Given the description of an element on the screen output the (x, y) to click on. 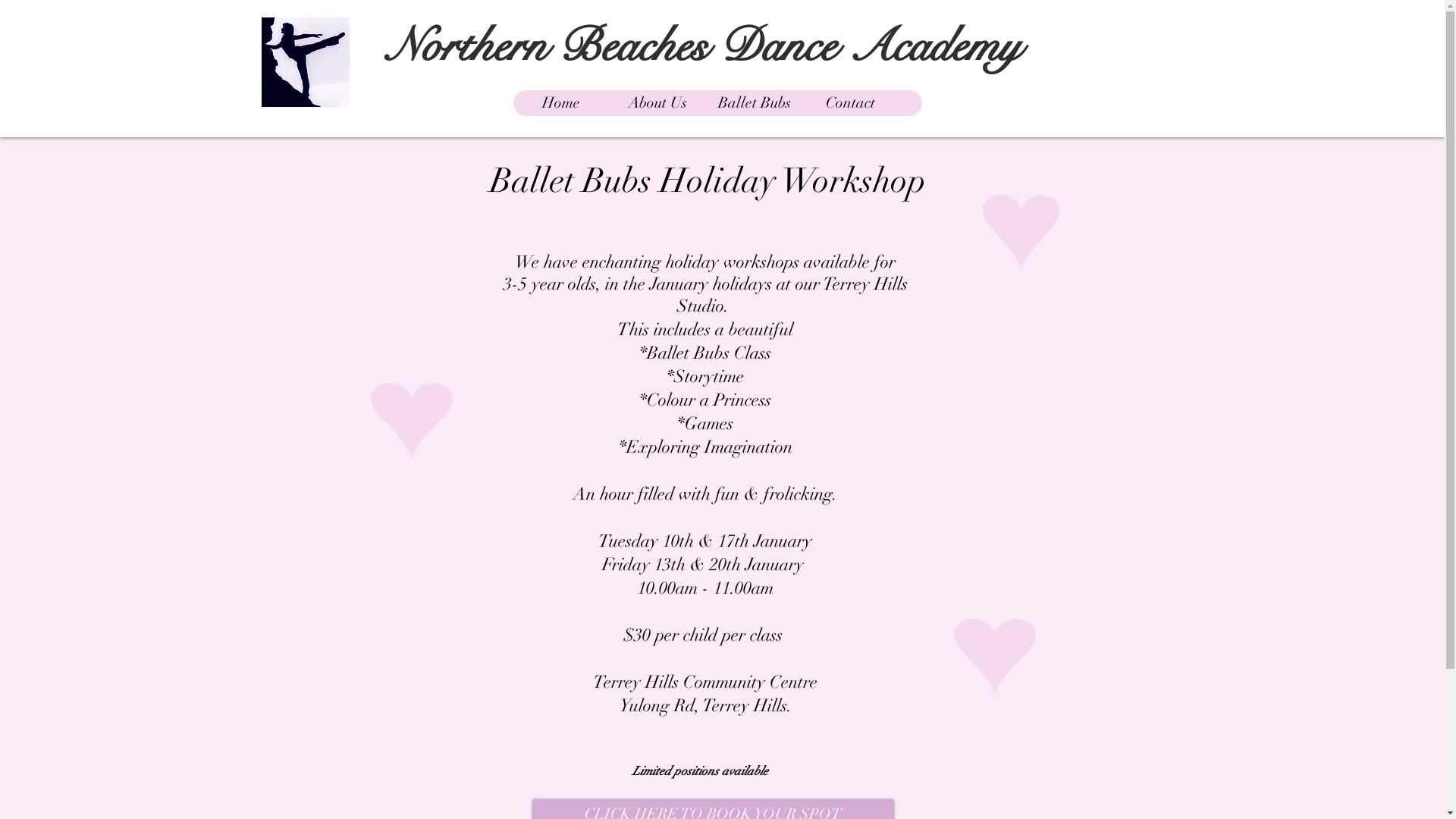
Northern Element type: text (466, 45)
Ballet Bubs Element type: text (753, 103)
logosmall.jpg Element type: hover (304, 61)
About Us Element type: text (657, 103)
Home Element type: text (560, 103)
Contact Element type: text (850, 103)
